Given the description of an element on the screen output the (x, y) to click on. 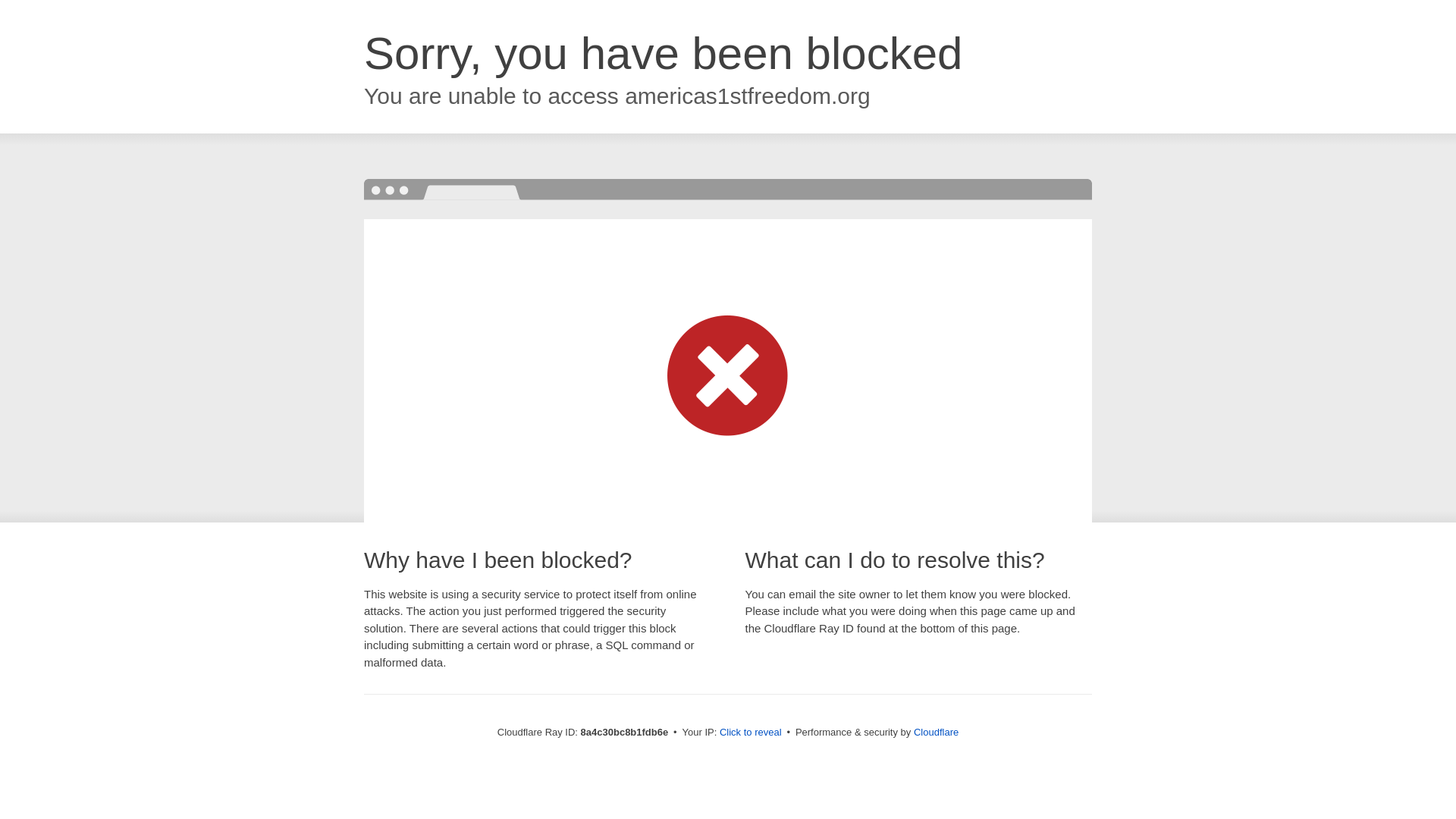
Click to reveal (750, 732)
Cloudflare (936, 731)
